Given the description of an element on the screen output the (x, y) to click on. 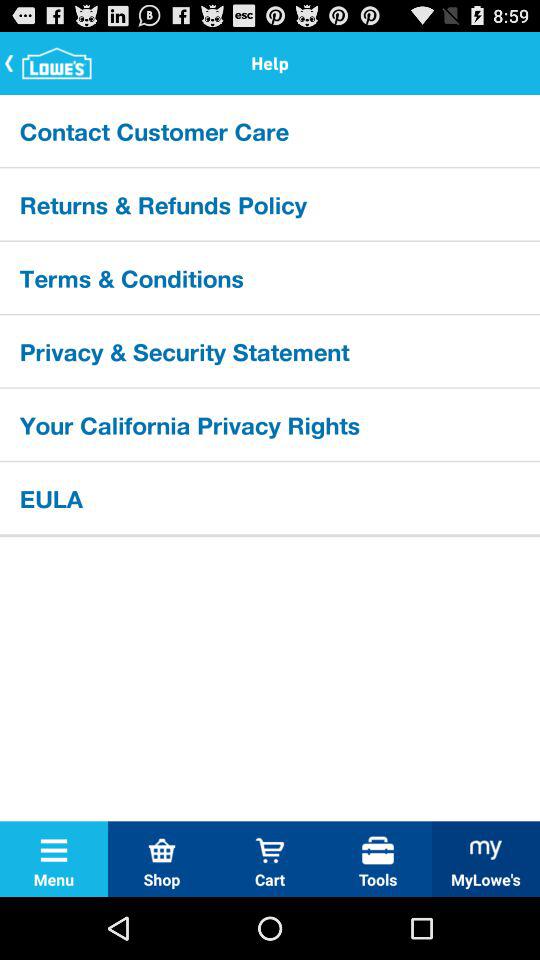
swipe until returns & refunds policy icon (270, 203)
